Given the description of an element on the screen output the (x, y) to click on. 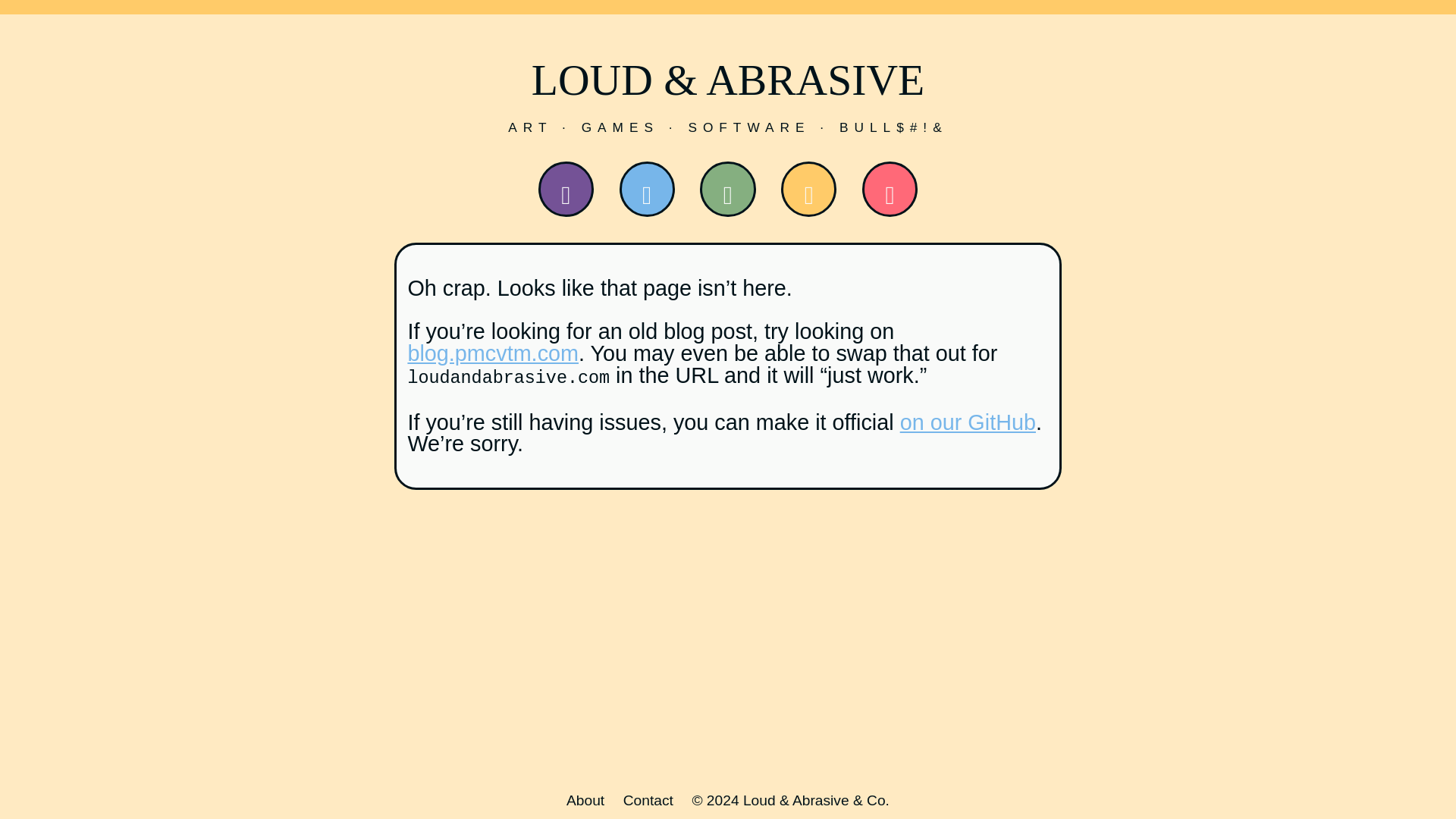
on our GitHub (967, 422)
blog.pmcvtm.com (492, 353)
